Given the description of an element on the screen output the (x, y) to click on. 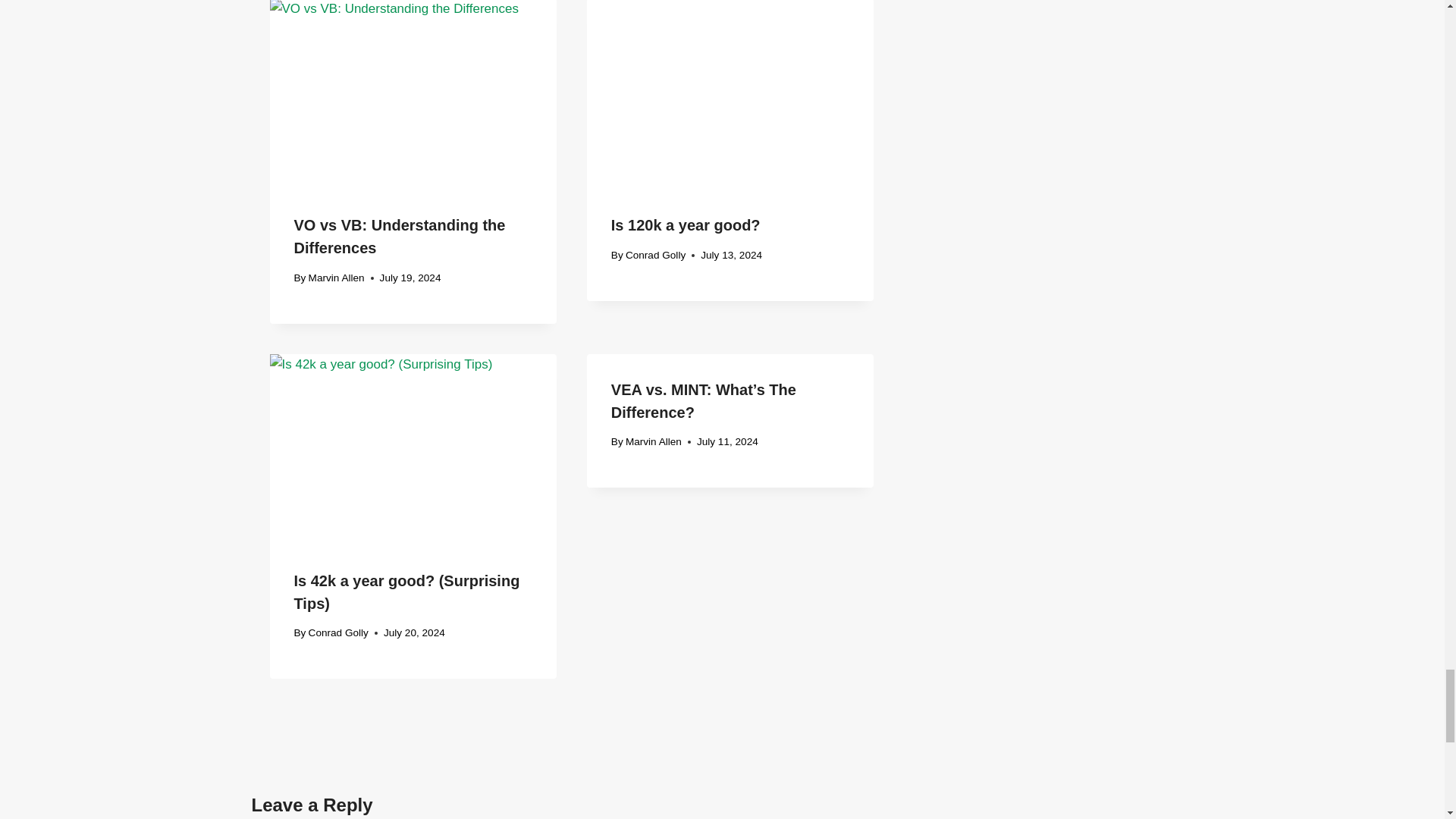
VO vs VB: Understanding the Differences 10 (412, 94)
Is 120k a year good? 11 (729, 94)
